Given the description of an element on the screen output the (x, y) to click on. 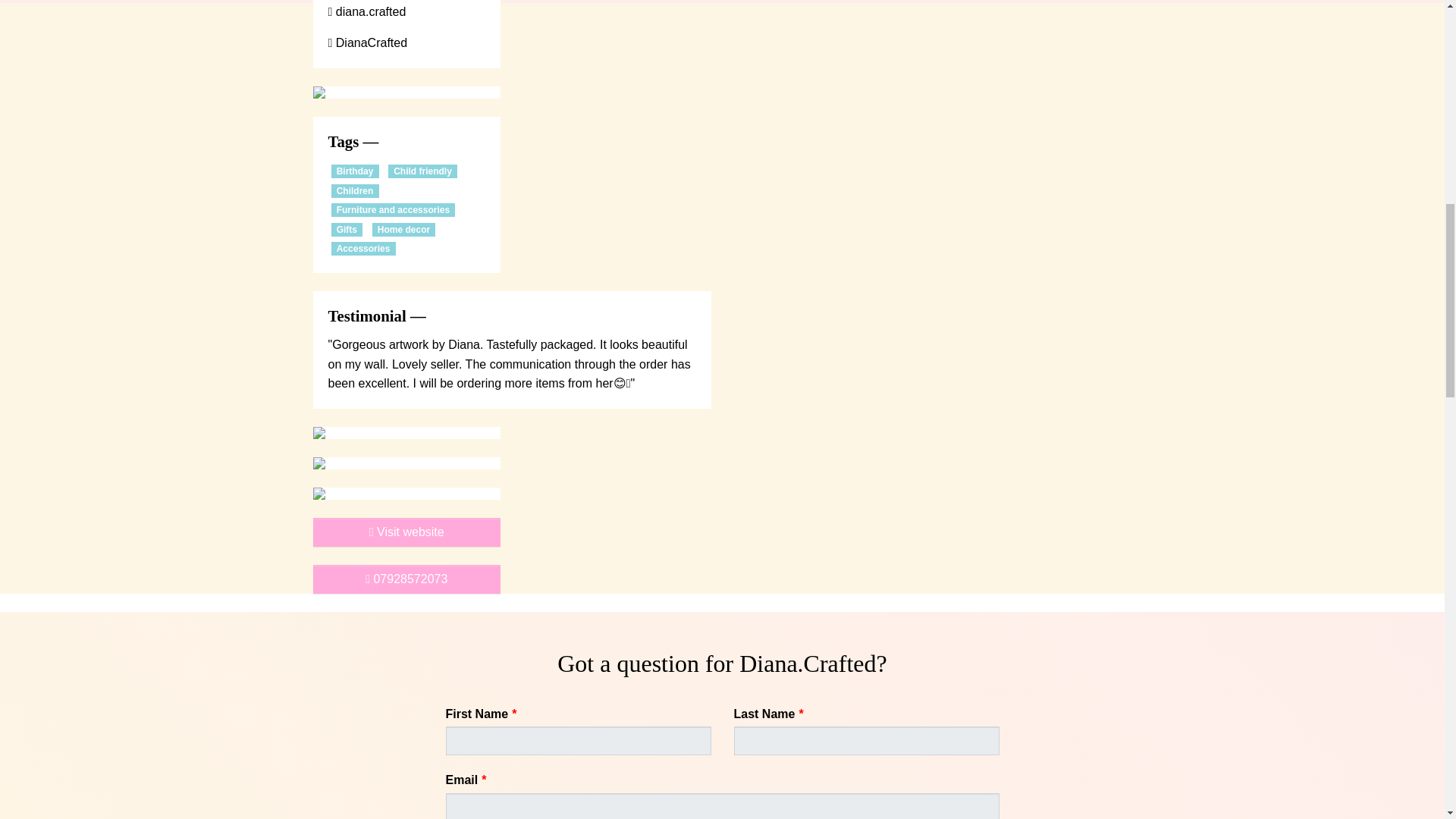
Home decor (403, 229)
Birthday (354, 171)
DianaCrafted (367, 42)
Child friendly (422, 171)
Visit website (406, 532)
diana.crafted (366, 11)
Gifts (346, 229)
07928572073 (406, 579)
Furniture and accessories (392, 210)
Accessories (362, 248)
